Given the description of an element on the screen output the (x, y) to click on. 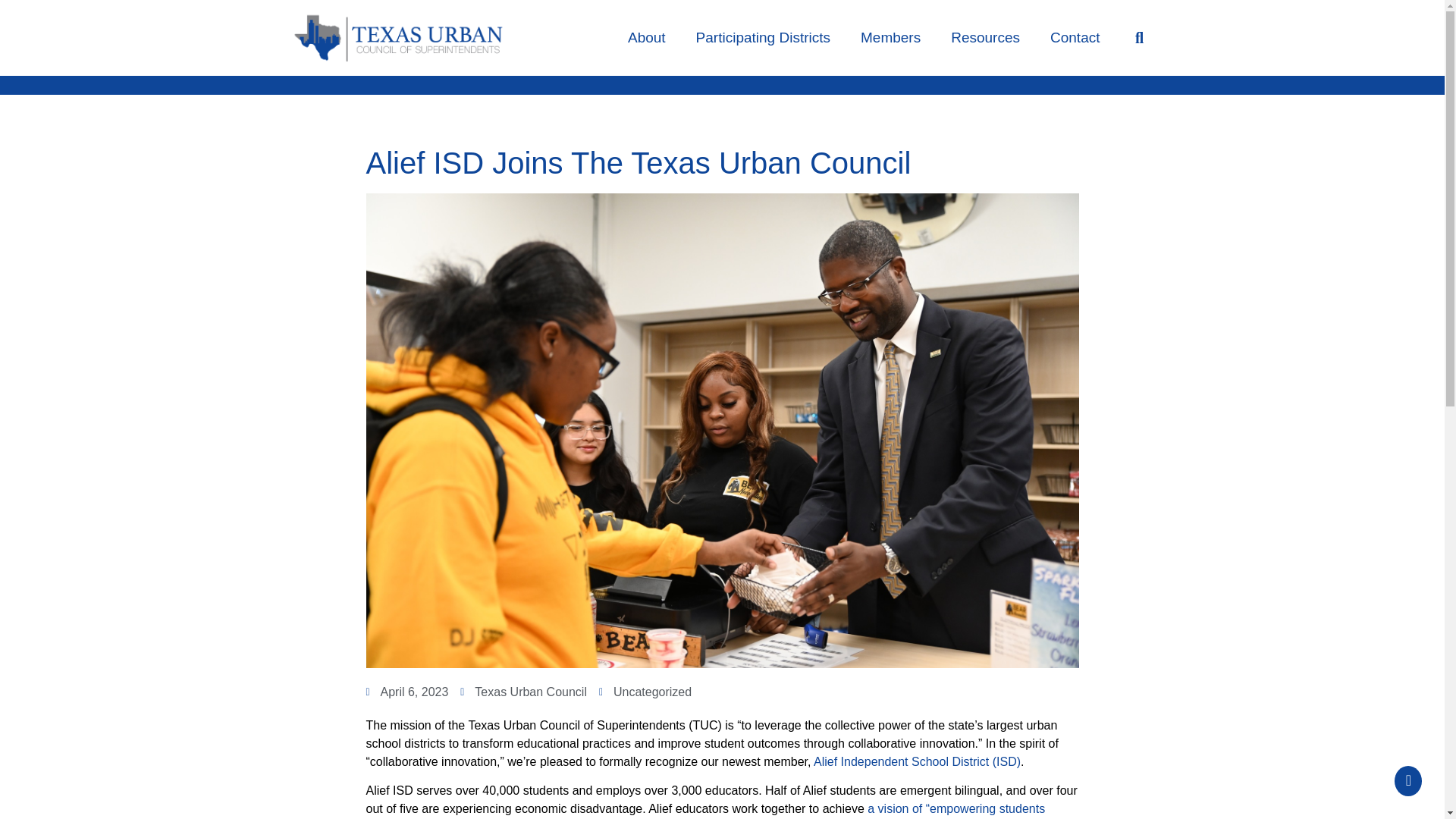
April 6, 2023 (406, 692)
Uncategorized (651, 691)
Contact (1075, 38)
Texas Urban Council (523, 692)
Members (890, 38)
Resources (985, 38)
Participating Districts (763, 38)
About (646, 38)
